Given the description of an element on the screen output the (x, y) to click on. 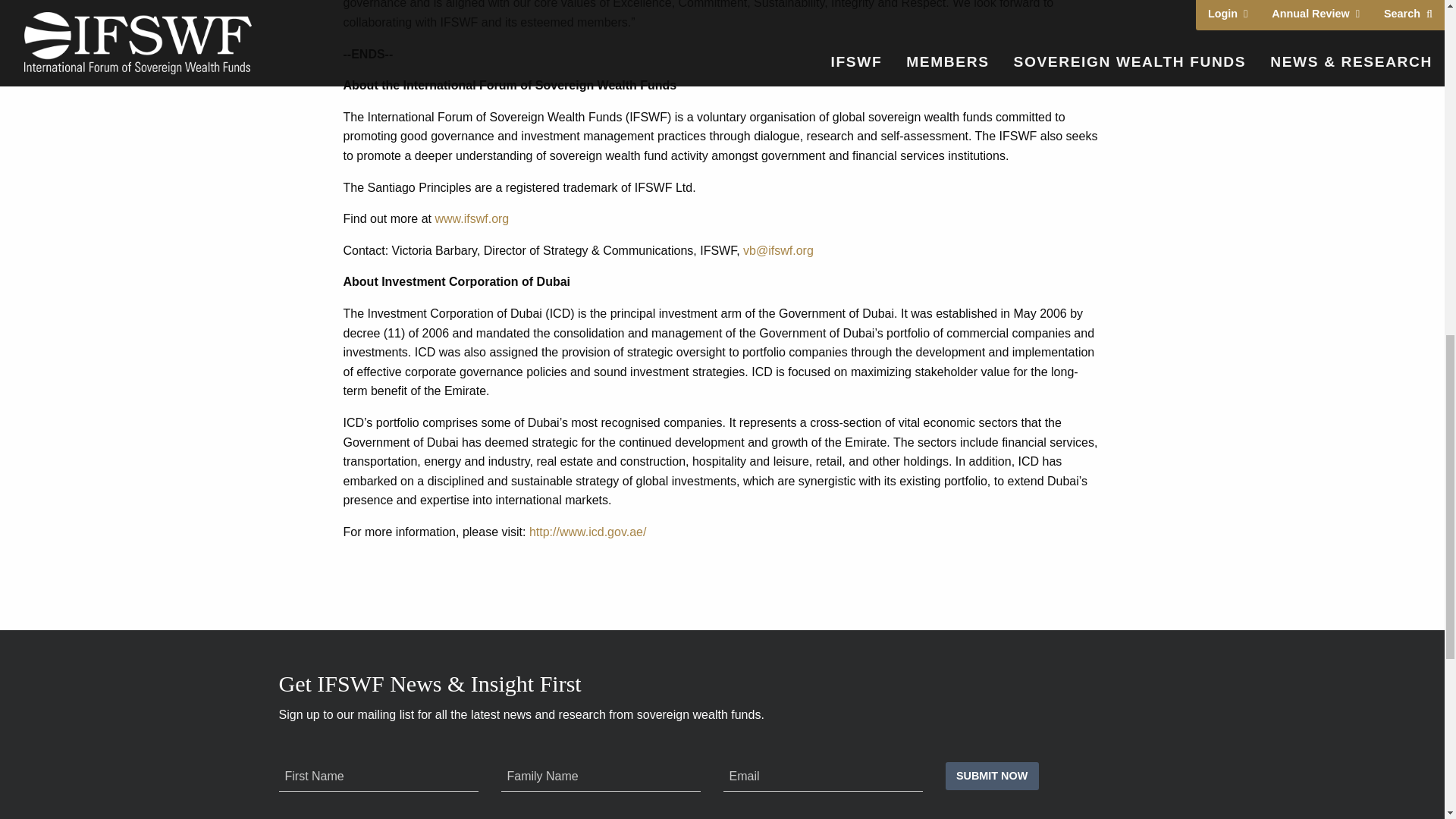
SUBMIT NOW (991, 776)
